Given the description of an element on the screen output the (x, y) to click on. 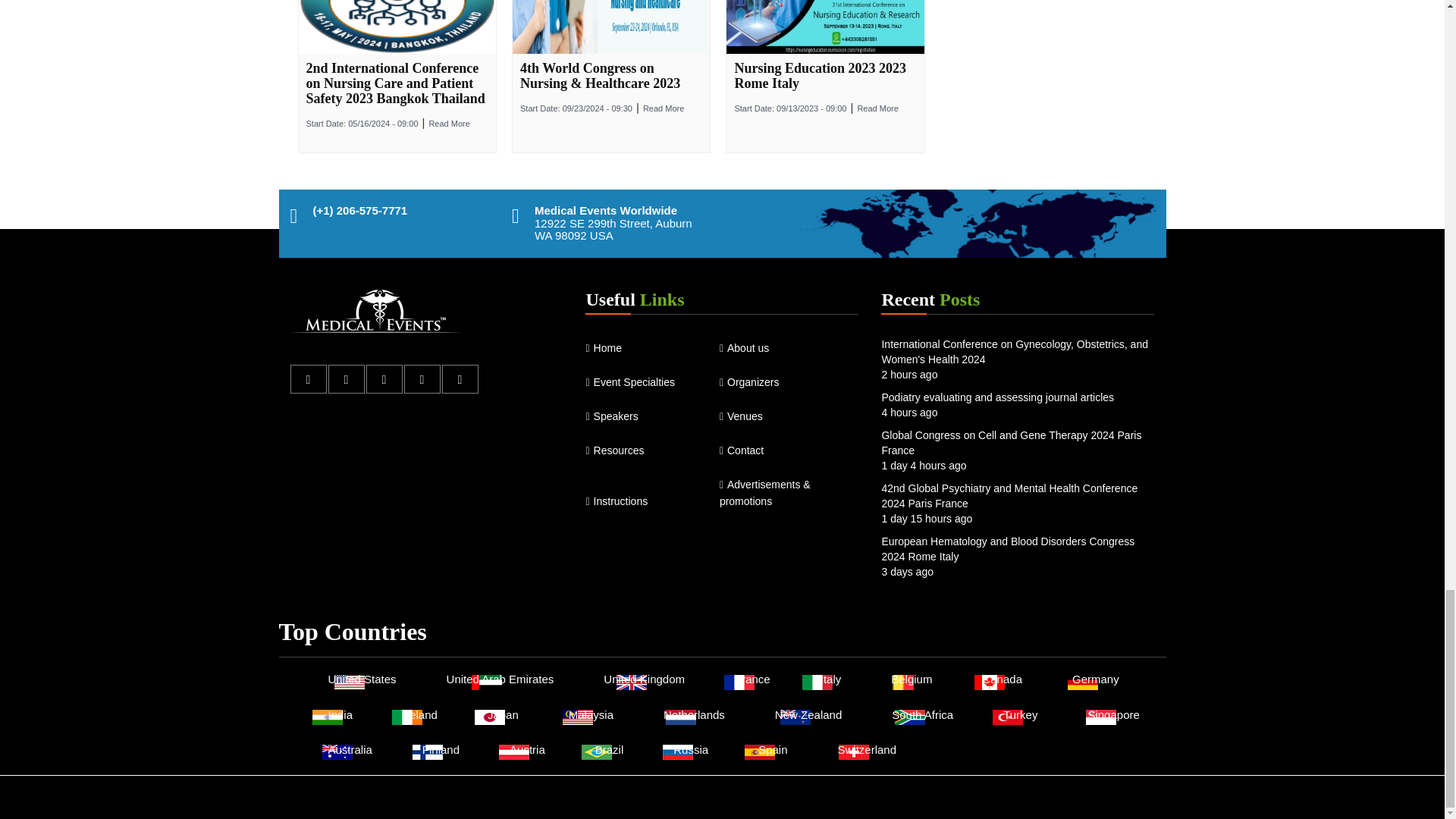
medical events (374, 311)
